Given the description of an element on the screen output the (x, y) to click on. 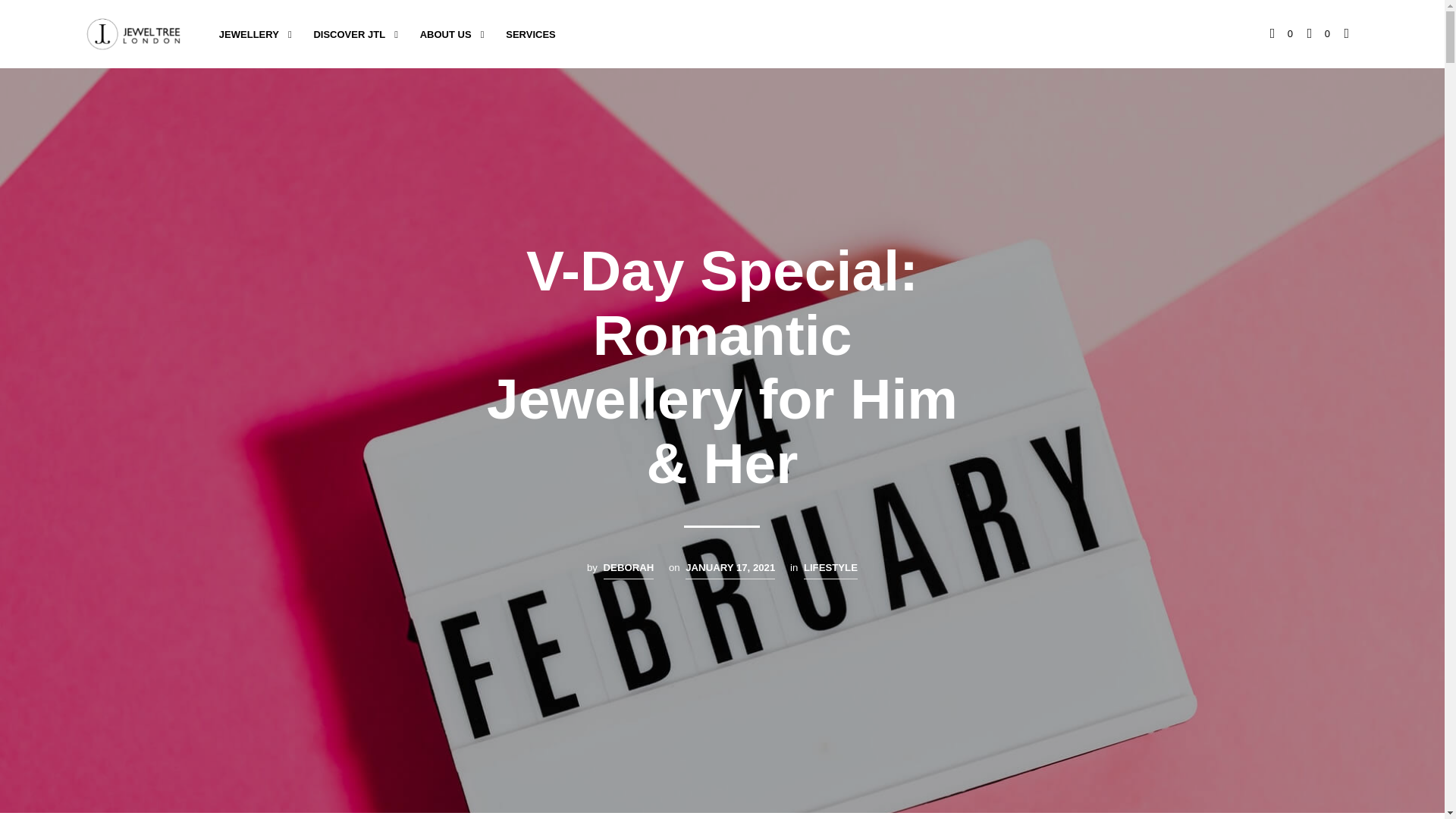
View all posts by deborah (628, 569)
